Given the description of an element on the screen output the (x, y) to click on. 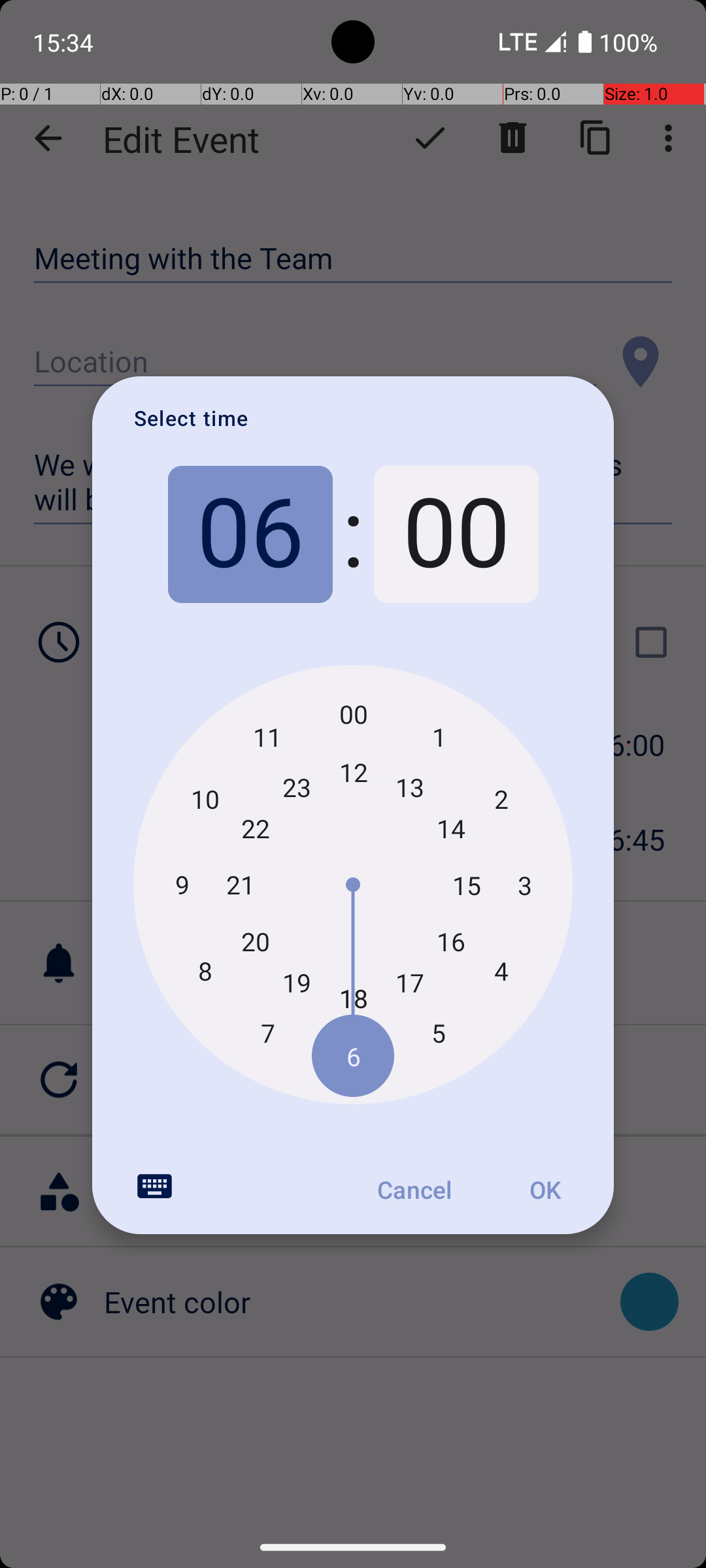
06 Element type: android.view.View (250, 534)
